Given the description of an element on the screen output the (x, y) to click on. 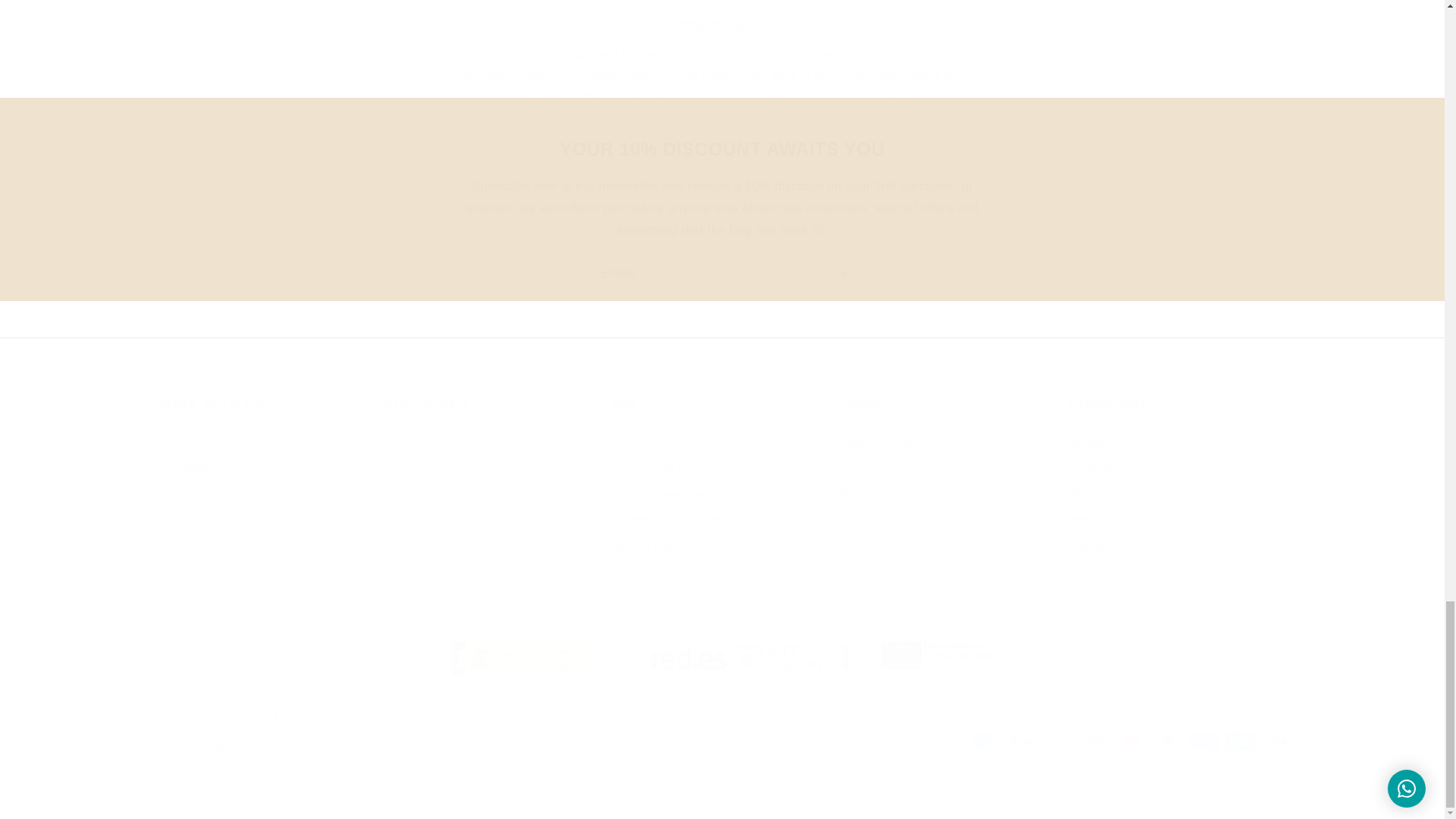
Email (722, 273)
